Given the description of an element on the screen output the (x, y) to click on. 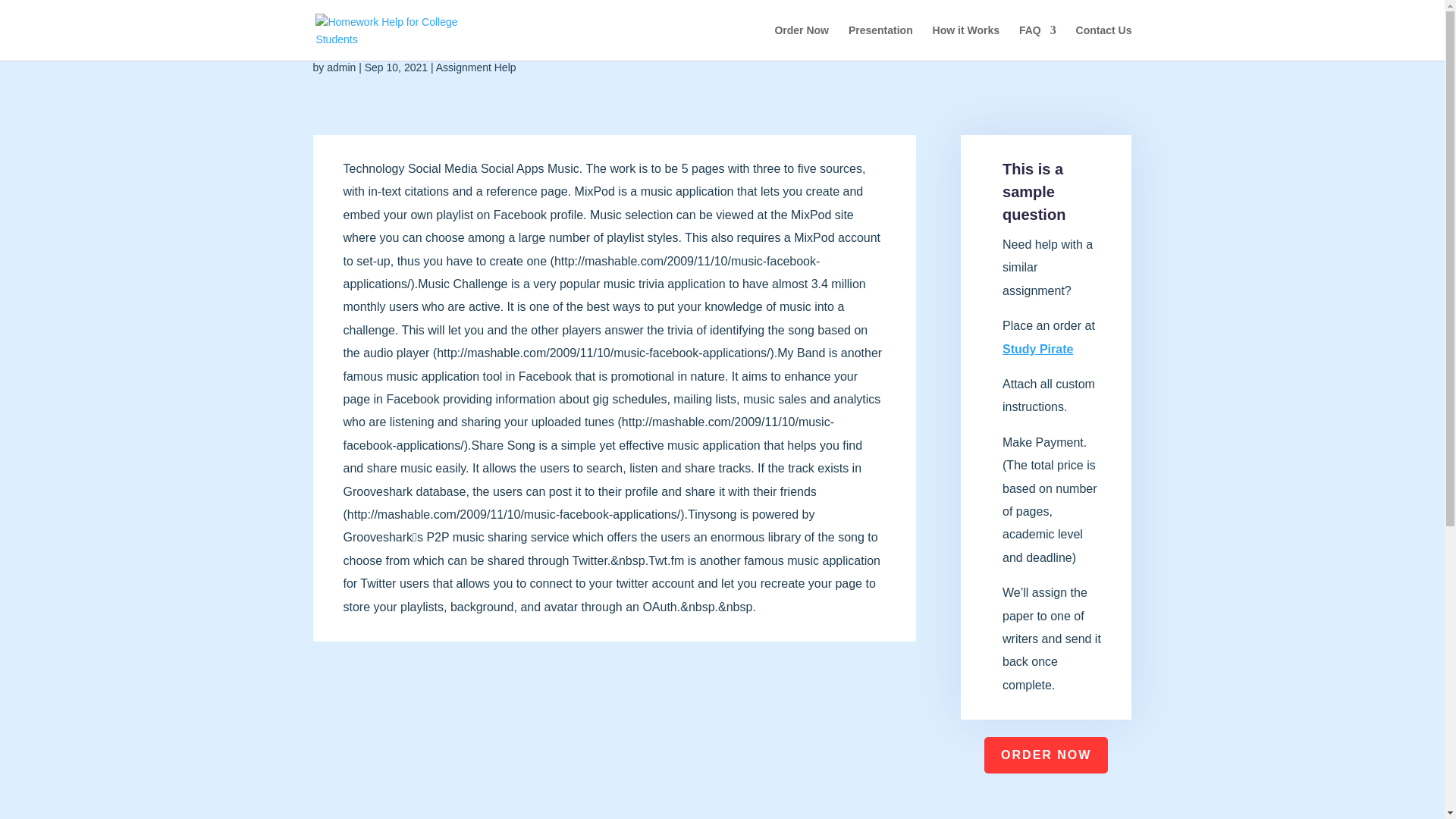
This is a sample question (1034, 191)
Posts by admin (340, 67)
Contact Us (1103, 42)
FAQ (1038, 42)
How it Works (965, 42)
ORDER NOW (1046, 755)
Study Pirate (1038, 349)
Assignment Help (475, 67)
Order Now (801, 42)
Presentation (880, 42)
